Given the description of an element on the screen output the (x, y) to click on. 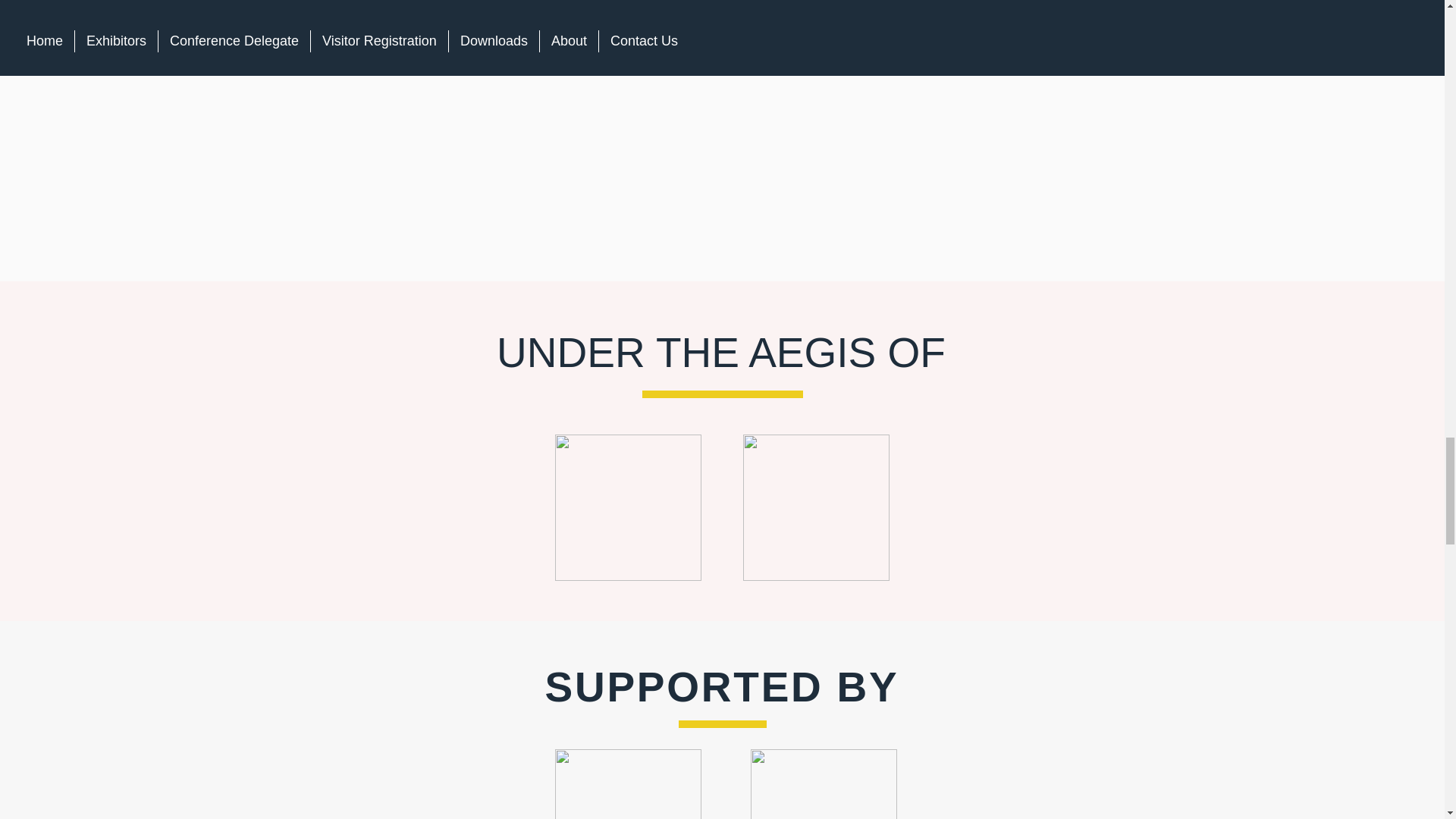
Azadi Ka Amrit Mahotsav (815, 507)
